Given the description of an element on the screen output the (x, y) to click on. 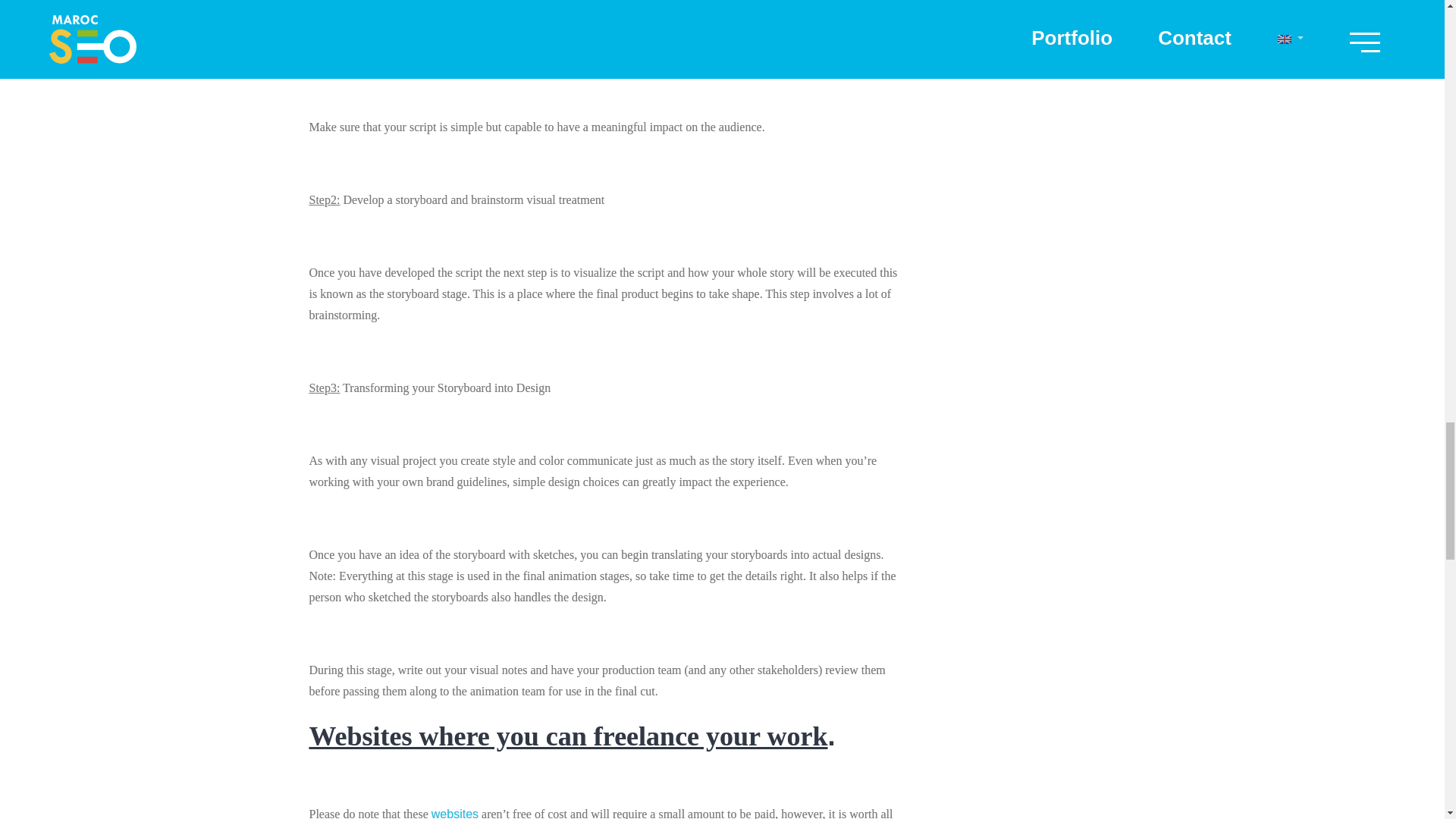
Websites and The 2022 Guide to Create your Dream Website (454, 813)
